Given the description of an element on the screen output the (x, y) to click on. 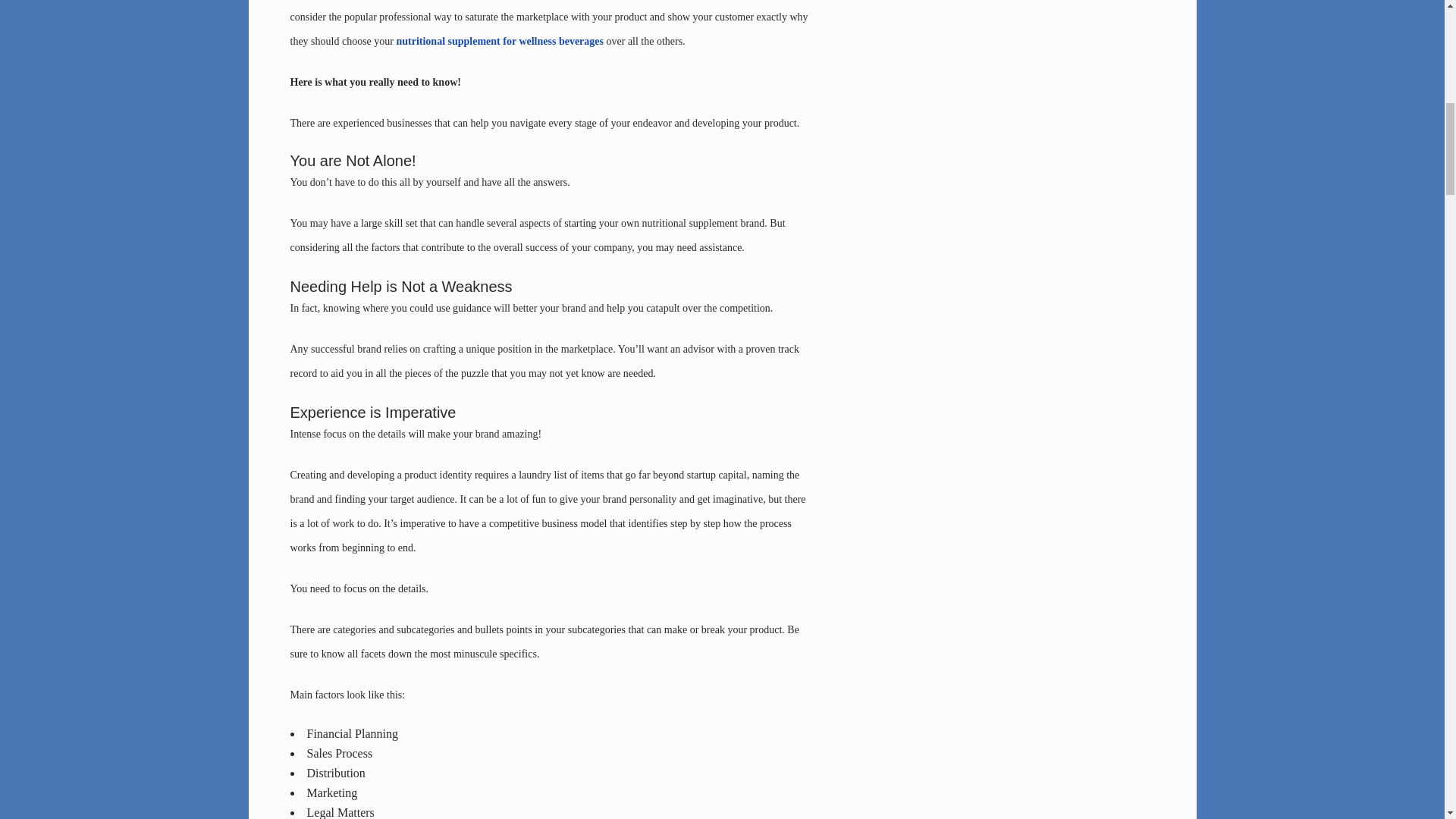
nutritional supplement for wellness beverages (500, 41)
